Given the description of an element on the screen output the (x, y) to click on. 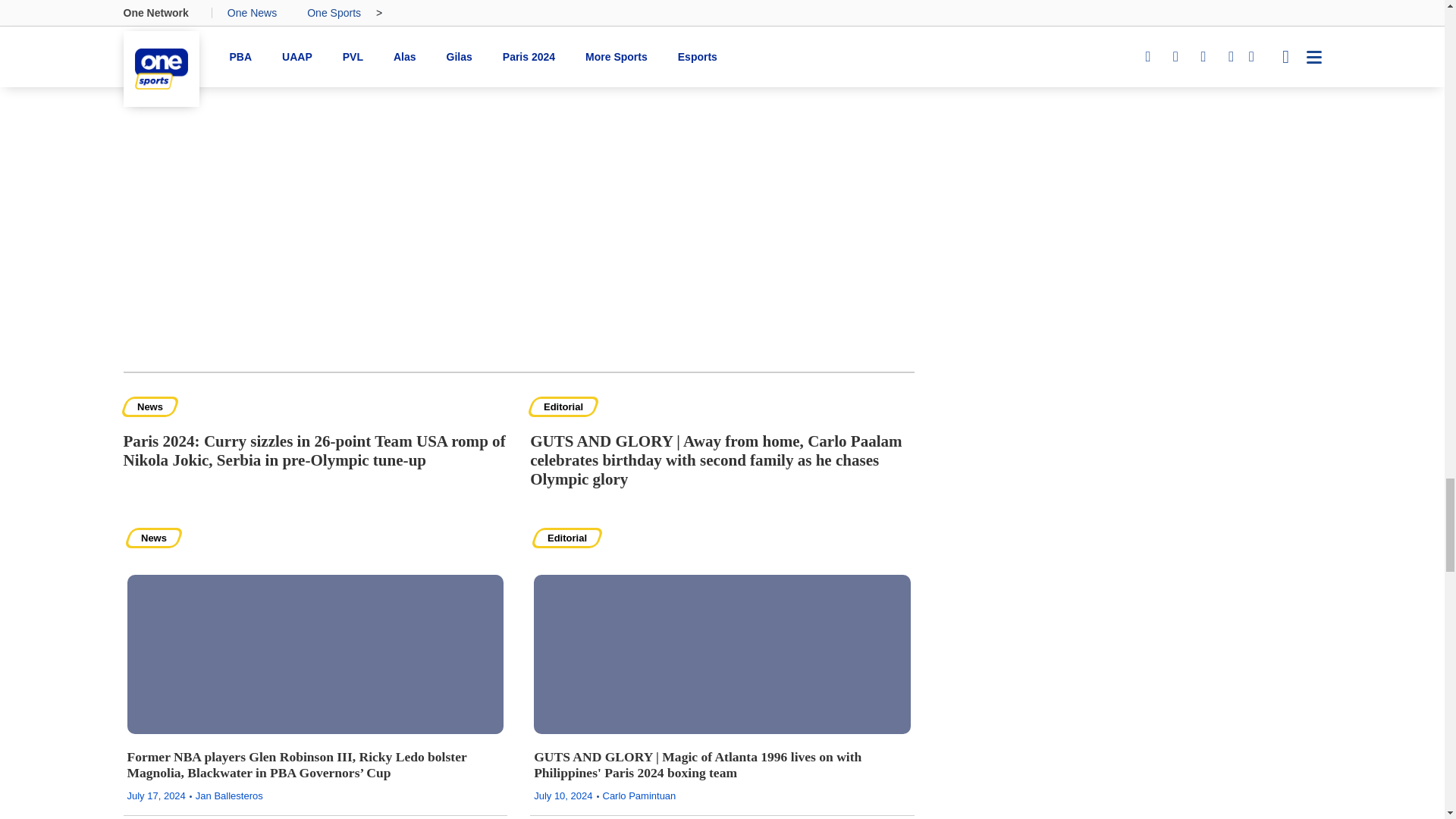
3rd party ad content (1128, 490)
3rd party ad content (517, 253)
